Given the description of an element on the screen output the (x, y) to click on. 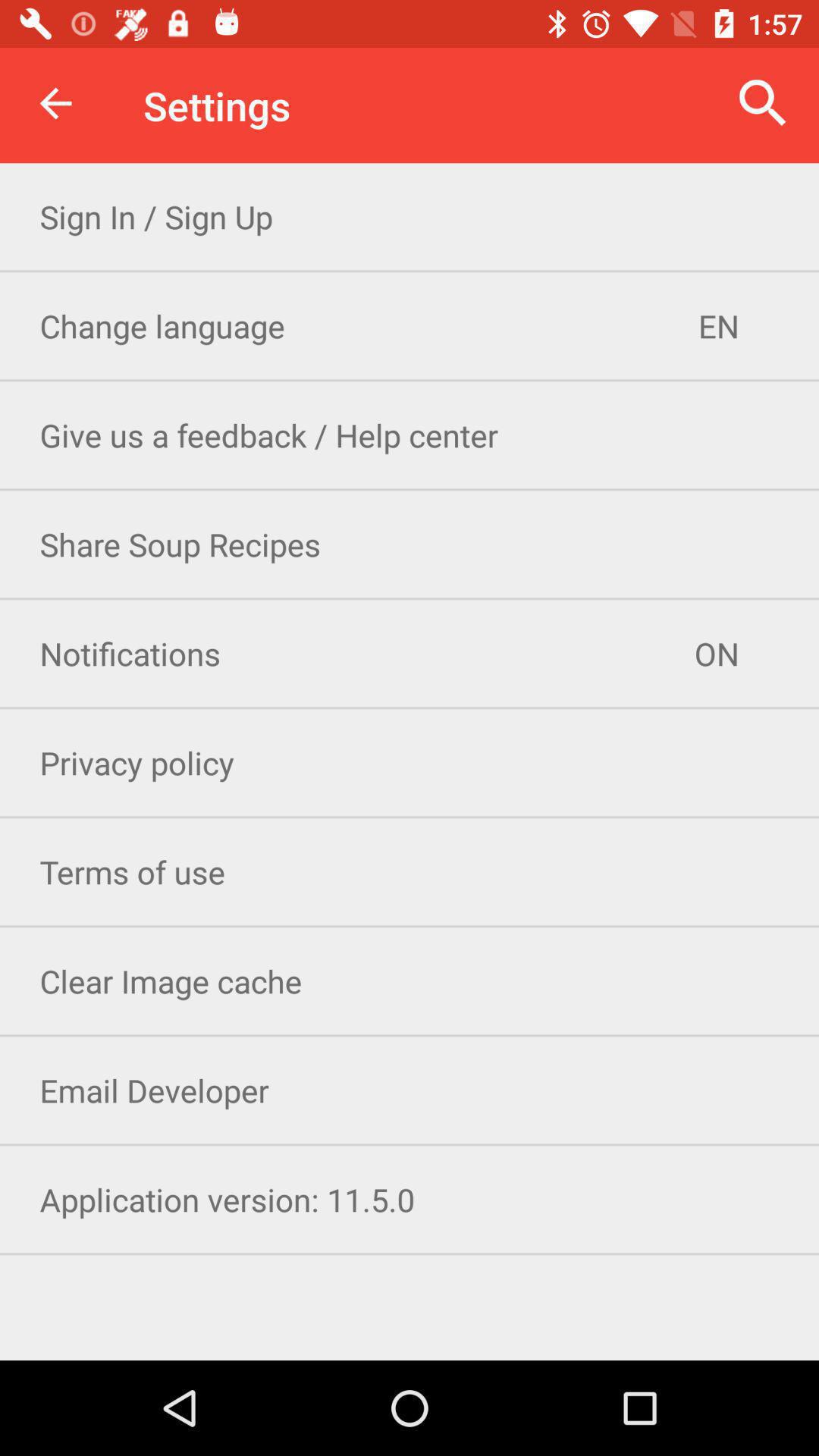
swipe until the terms of use item (409, 871)
